Given the description of an element on the screen output the (x, y) to click on. 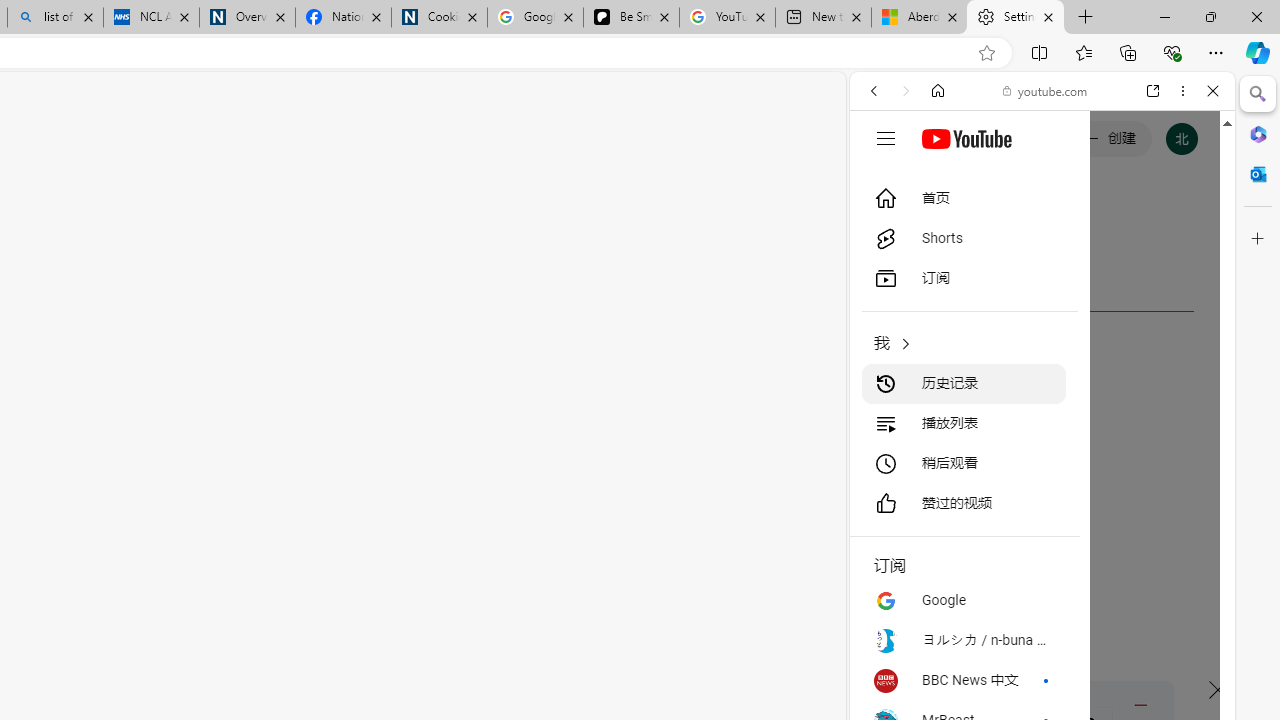
Show More Music (1164, 546)
Trailer #2 [HD] (1042, 592)
